Given the description of an element on the screen output the (x, y) to click on. 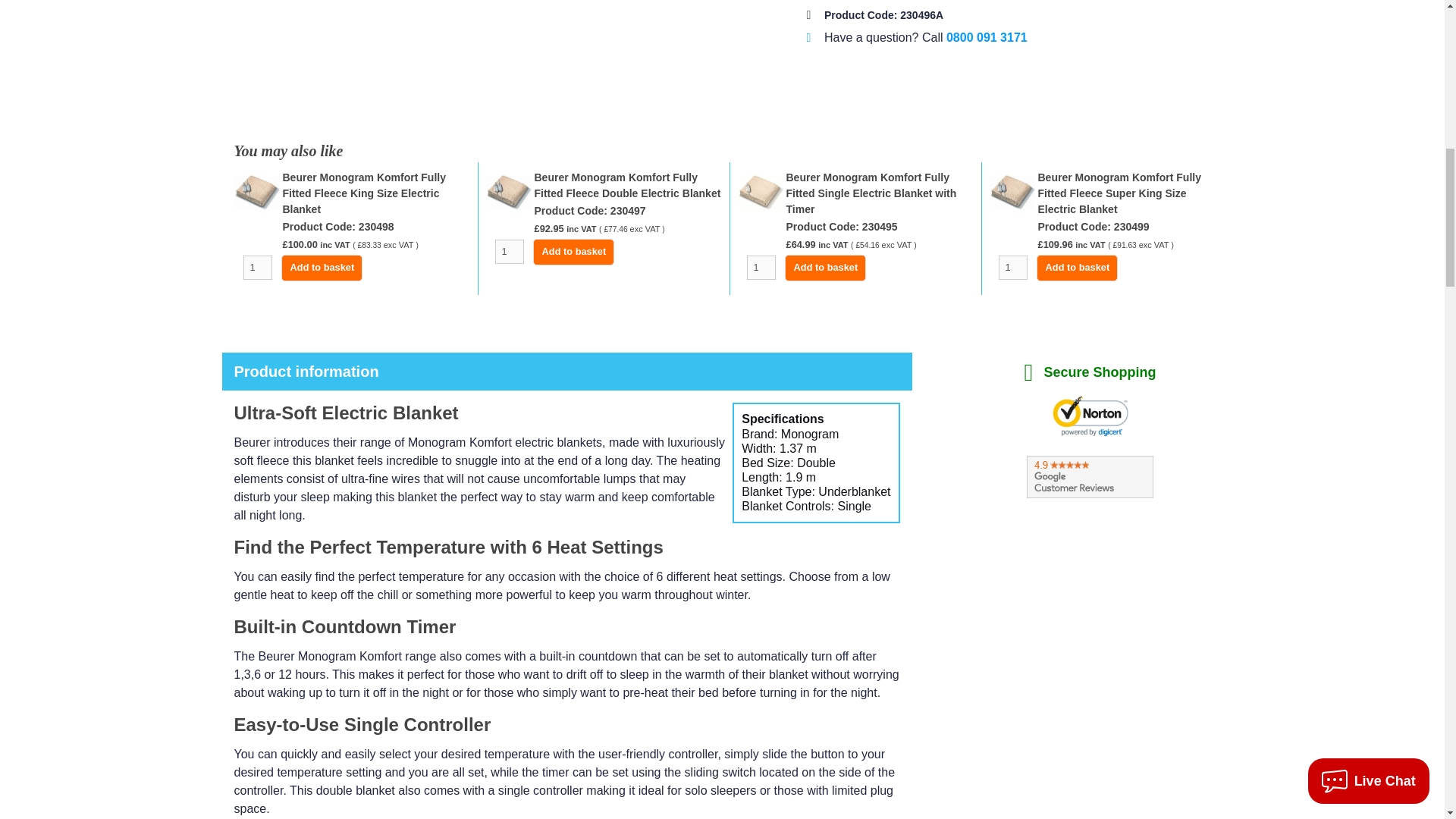
1 (1011, 267)
1 (256, 267)
1 (508, 251)
Add to basket (1077, 267)
1 (759, 267)
Add to basket (573, 252)
Add to basket (825, 267)
Add to basket (321, 267)
